Given the description of an element on the screen output the (x, y) to click on. 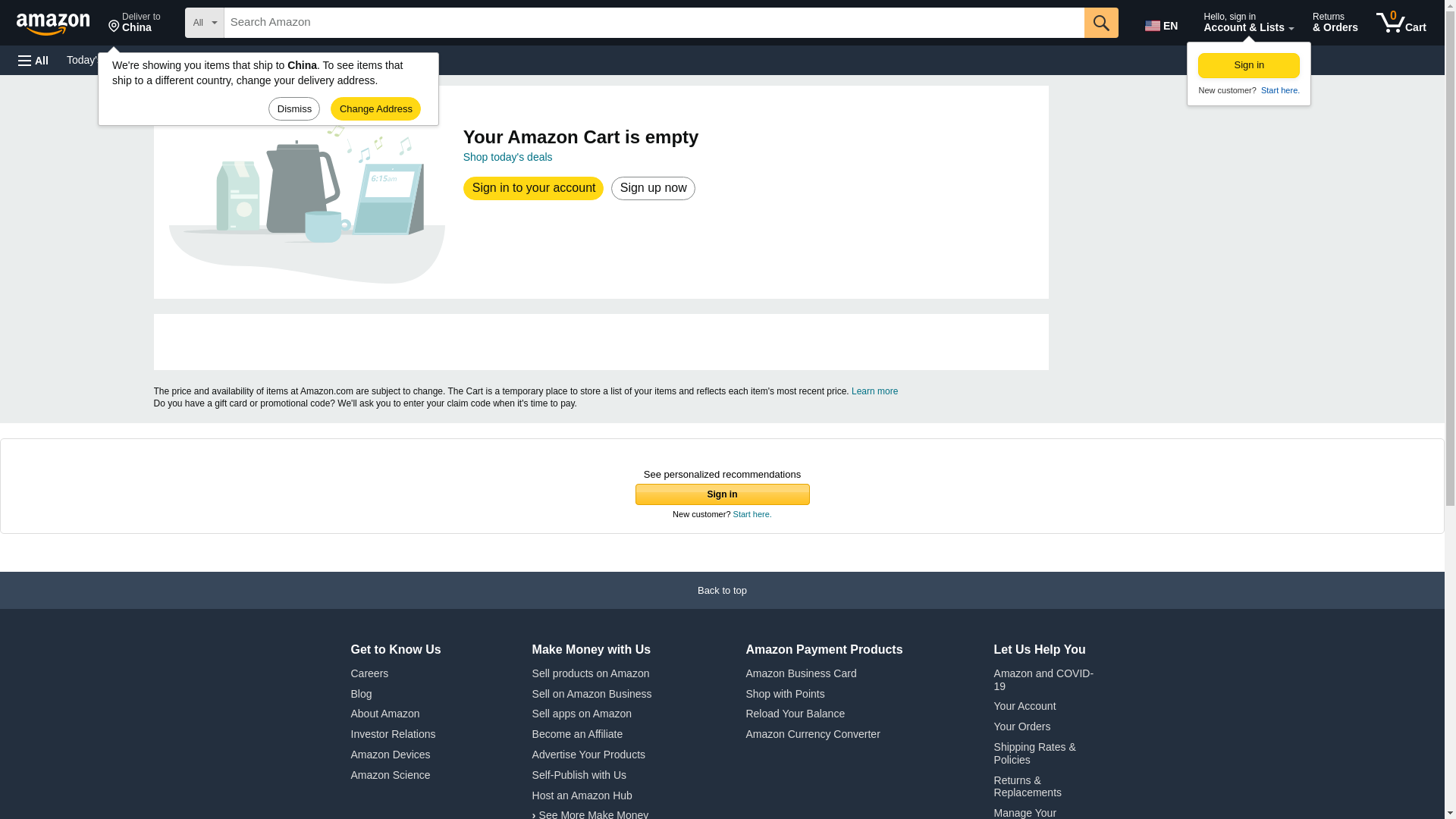
Skip to main content (60, 21)
Registry (272, 59)
Sign in (1249, 65)
Start here. (1279, 90)
Shop today's deals (508, 156)
Gift Cards (134, 22)
EN (333, 59)
Go (1163, 22)
